Given the description of an element on the screen output the (x, y) to click on. 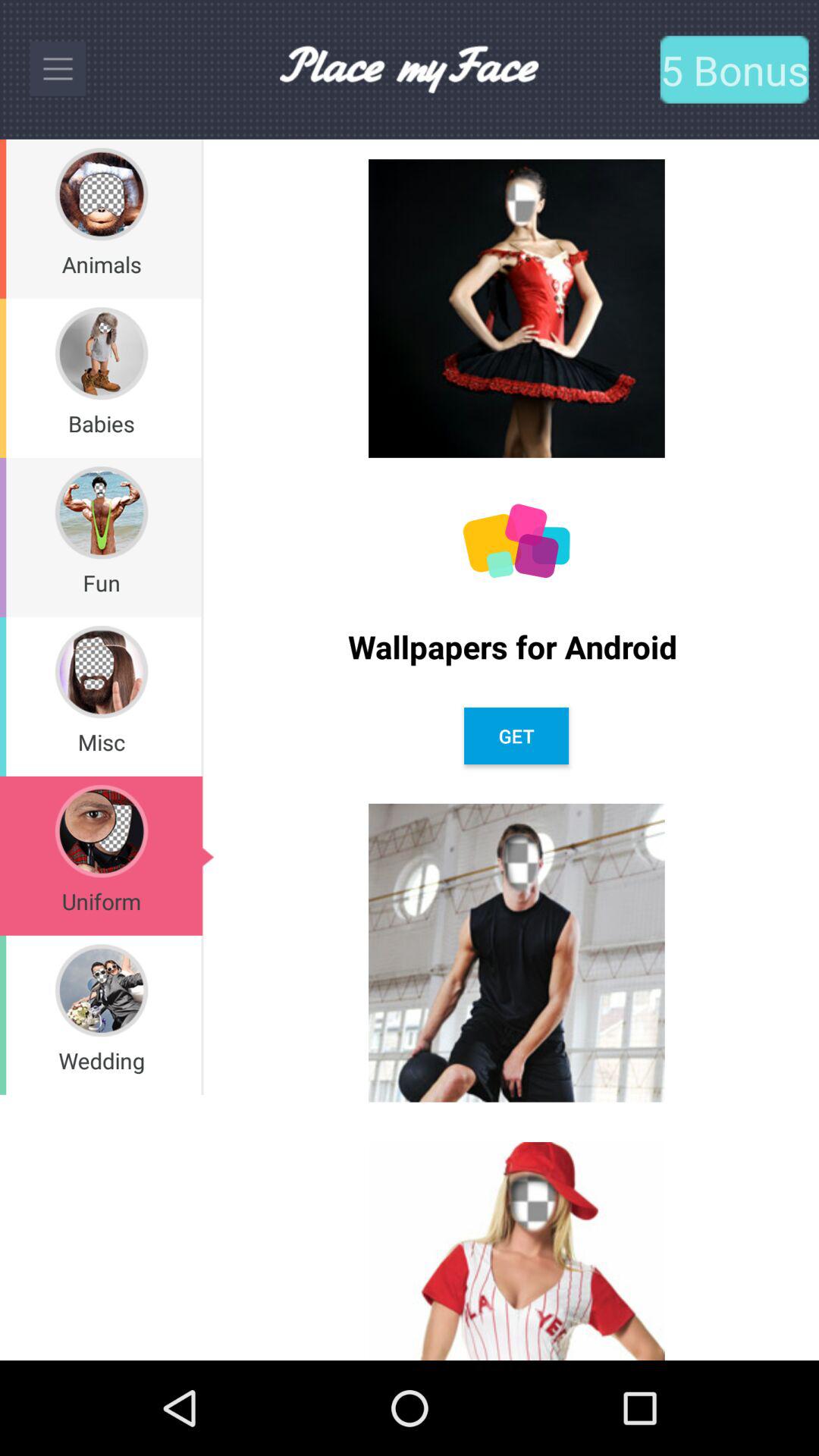
select the app below the wallpapers for android  app (516, 735)
